Given the description of an element on the screen output the (x, y) to click on. 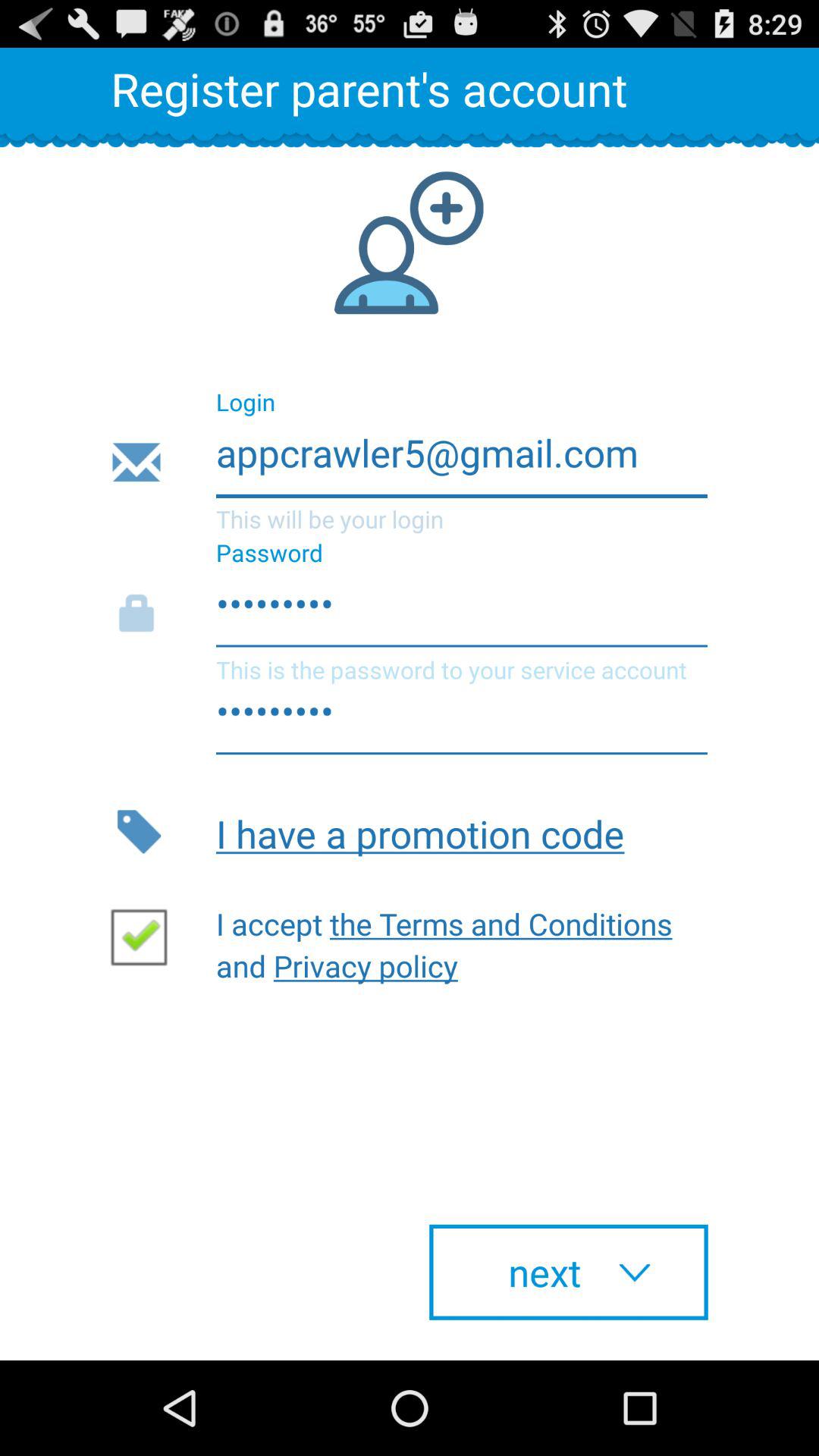
open the icon above i accept the item (461, 831)
